Given the description of an element on the screen output the (x, y) to click on. 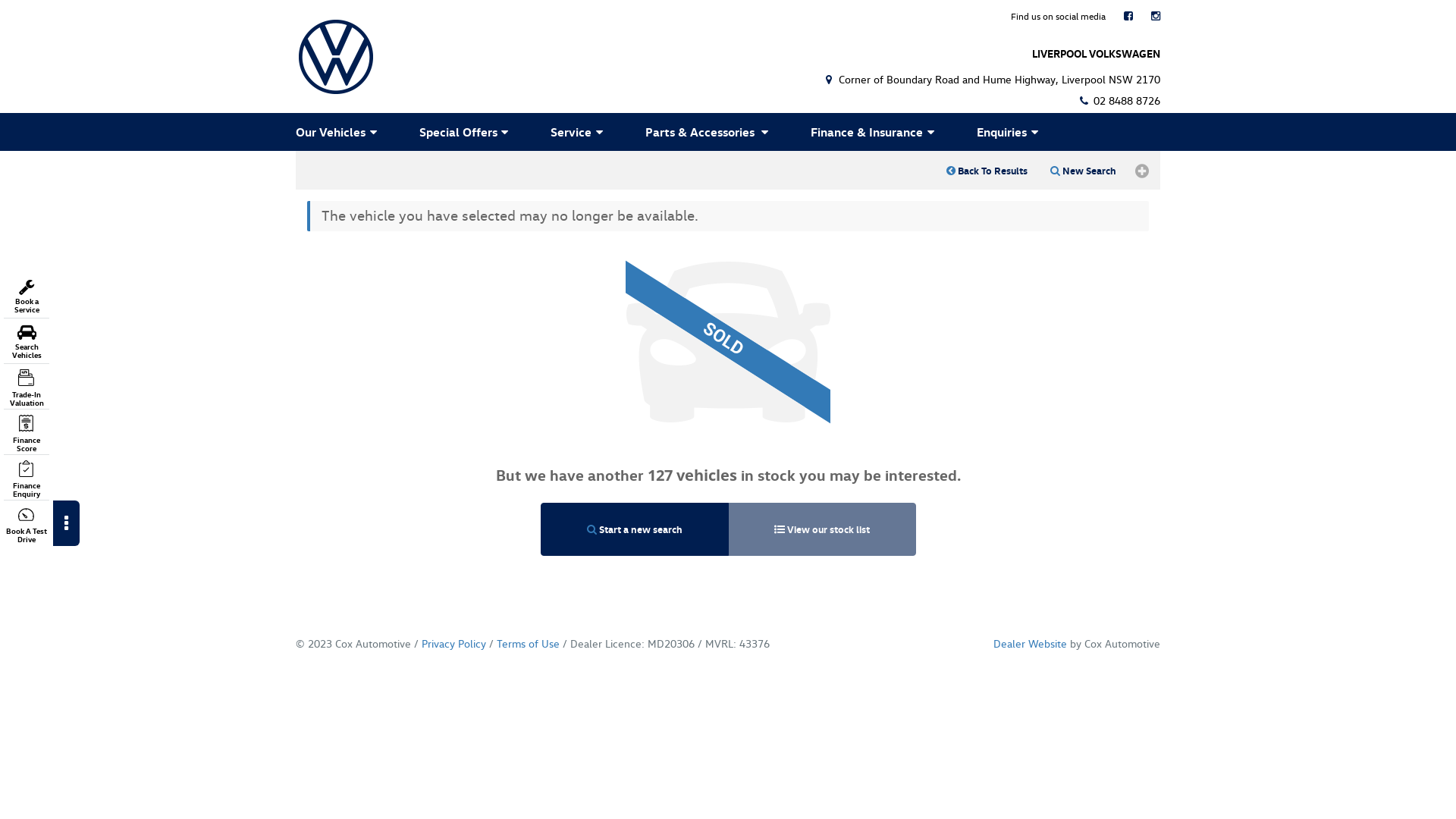
Service Element type: text (578, 131)
Start a new search Element type: text (633, 529)
Finance Enquiry Element type: text (26, 479)
Finance & Insurance Element type: text (874, 131)
Our Vehicles Element type: text (340, 131)
Corner of Boundary Road and Hume Highway, Liverpool NSW 2170 Element type: text (991, 78)
Book a Service Element type: text (26, 296)
Terms of Use Element type: text (527, 643)
Dealer Website Element type: text (1029, 643)
View our stock list Element type: text (822, 529)
Back To Results Element type: text (986, 170)
Instagram Element type: hover (1155, 15)
Facebook Element type: hover (1127, 15)
Book A Test Drive Element type: text (26, 524)
02 8488 8726 Element type: text (1118, 100)
Finance Score Element type: text (26, 433)
Parts & Accessories Element type: text (709, 131)
Search Vehicles Element type: text (26, 341)
New Search Element type: text (1082, 170)
Trade-In Valuation Element type: text (26, 388)
Enquiries Element type: text (1009, 131)
Privacy Policy Element type: text (453, 643)
Special Offers Element type: text (466, 131)
